Given the description of an element on the screen output the (x, y) to click on. 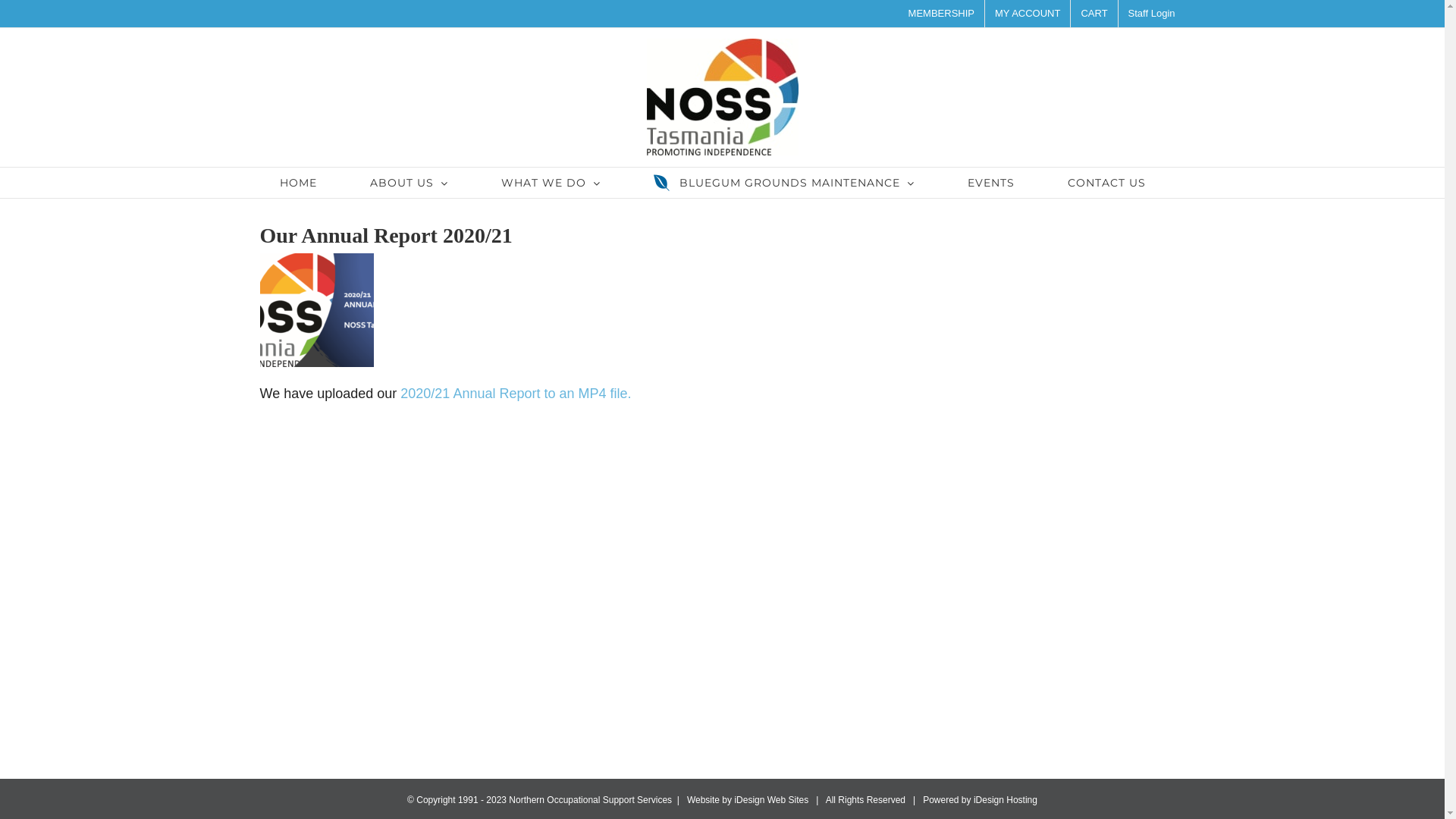
CONTACT US Element type: text (1107, 182)
Annual Report Cover Element type: hover (316, 310)
BLUEGUM GROUNDS MAINTENANCE Element type: text (784, 182)
MY ACCOUNT Element type: text (1027, 13)
iDesign Web Sites Element type: text (771, 799)
iDesign Hosting Element type: text (1005, 799)
Staff Login Element type: text (1151, 13)
ABOUT US Element type: text (409, 182)
MEMBERSHIP Element type: text (941, 13)
EVENTS Element type: text (991, 182)
WHAT WE DO Element type: text (550, 182)
CART Element type: text (1093, 13)
HOME Element type: text (297, 182)
2020/21 Annual Report to an MP4 file. Element type: text (515, 393)
